Given the description of an element on the screen output the (x, y) to click on. 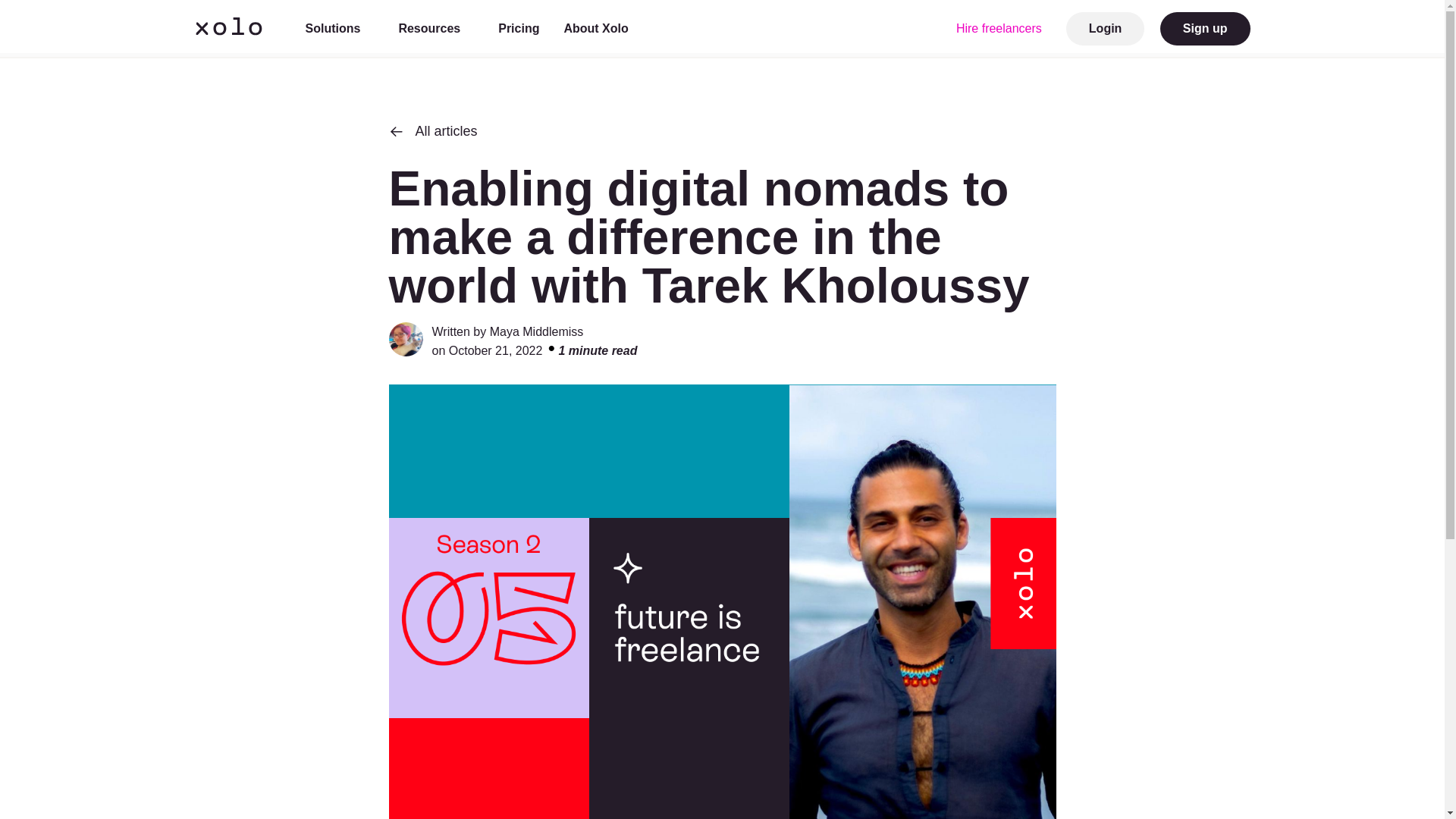
Sign up (1205, 28)
Xolo (227, 28)
Hire freelancers (999, 28)
About Xolo (602, 28)
Pricing (517, 28)
Solutions (339, 28)
Resources (435, 28)
Login (1104, 28)
